Given the description of an element on the screen output the (x, y) to click on. 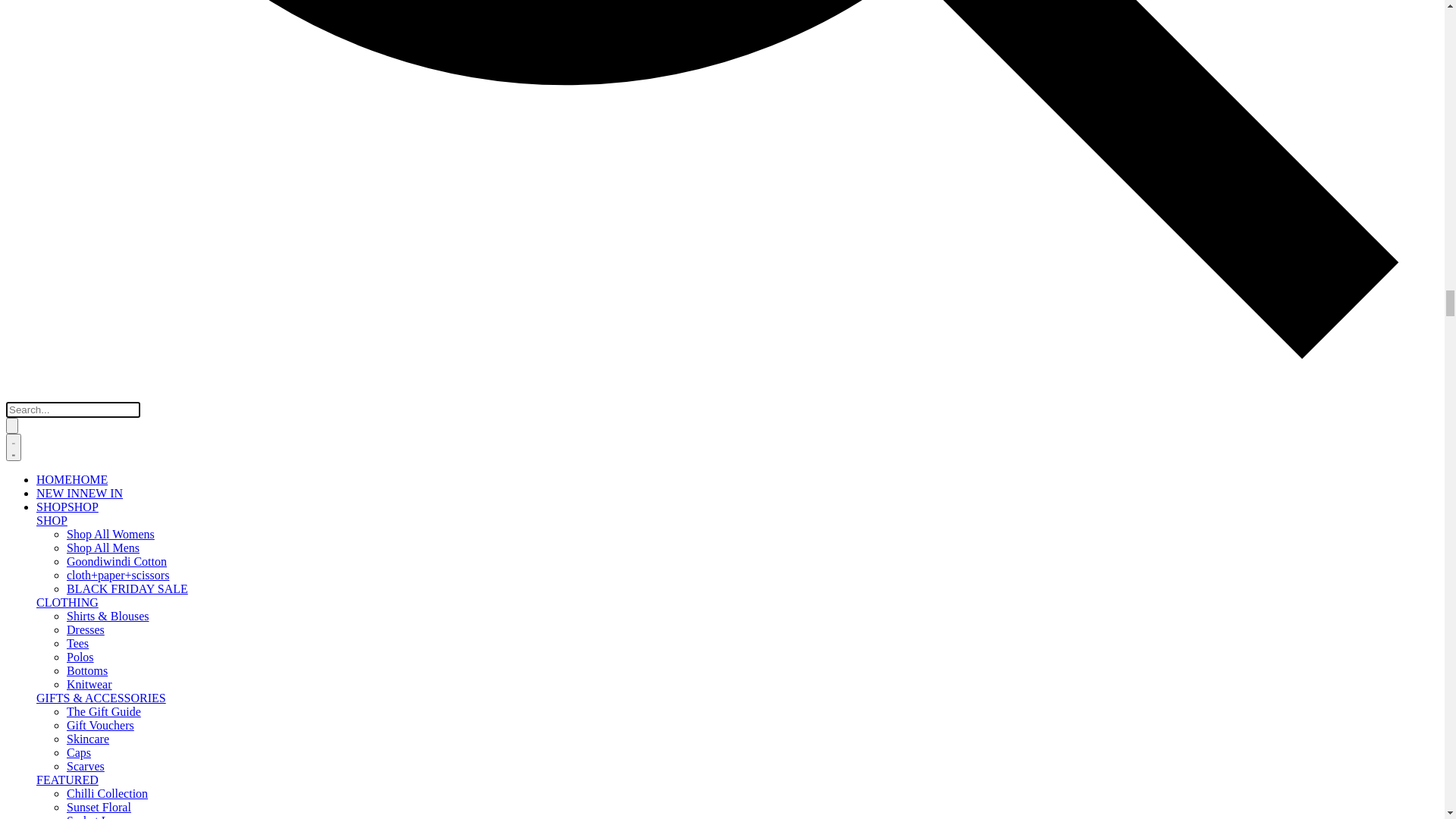
Contact Us Element type: text (63, 801)
SHOP Element type: text (26, 189)
Bottoms Element type: text (56, 379)
CUSTOMER CARE Element type: text (56, 734)
Skincare Element type: text (57, 473)
OUR IMPACT Element type: text (43, 650)
FAQ's Element type: text (51, 787)
Sunset Floral Element type: text (68, 568)
100% Cotton Element type: text (68, 609)
Shop All Womens Element type: text (80, 216)
ABOUT US Element type: text (37, 666)
NEW IN Element type: text (27, 158)
GIFTS & ACCESSORIES Element type: text (69, 420)
Caps Element type: text (48, 487)
Shop All Mens Element type: text (72, 229)
Size Guide Element type: text (63, 774)
Sorbet Lace Element type: text (65, 582)
Gingham Element type: text (58, 595)
Scarves Element type: text (55, 501)
The Gift Guide Element type: text (73, 446)
Chilli Collection Element type: text (76, 555)
100% Linen Element type: text (66, 623)
Gift Vouchers Element type: text (69, 460)
Our Story & History Element type: text (86, 693)
Dresses Element type: text (55, 338)
CLOTHING Element type: text (38, 298)
Our Recycle Program Element type: text (89, 706)
HOME Element type: text (23, 144)
Polos Element type: text (49, 365)
Shirts & Blouses Element type: text (77, 324)
Stockists Element type: text (58, 760)
BLACK FRIDAY SALE Element type: text (96, 270)
Goondiwindi Cotton Element type: text (86, 243)
cloth+paper+scissors Element type: text (87, 257)
SHOP Element type: text (26, 174)
Knitwear Element type: text (58, 392)
FEATURED Element type: text (39, 528)
Skip to content Element type: text (273, 115)
Tees Element type: text (47, 351)
